Given the description of an element on the screen output the (x, y) to click on. 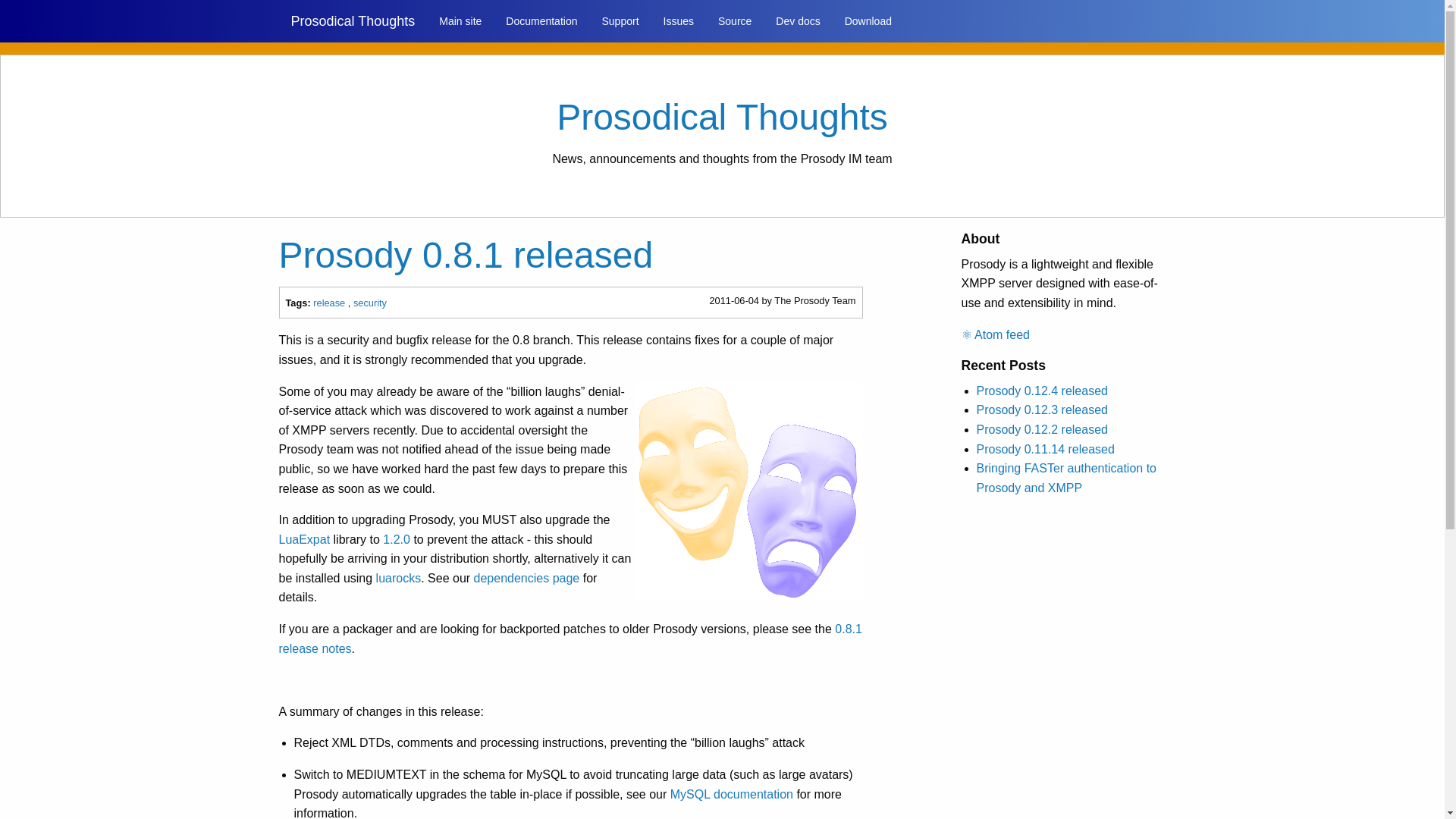
Support (619, 21)
Prosody 0.8.1 released (466, 255)
MySQL documentation (731, 793)
Prosody 0.12.2 released (1042, 429)
Dev docs (796, 21)
Documentation (541, 21)
Source (734, 21)
Prosody 0.12.4 released (1042, 390)
1.2.0 (396, 539)
Issues (678, 21)
